Given the description of an element on the screen output the (x, y) to click on. 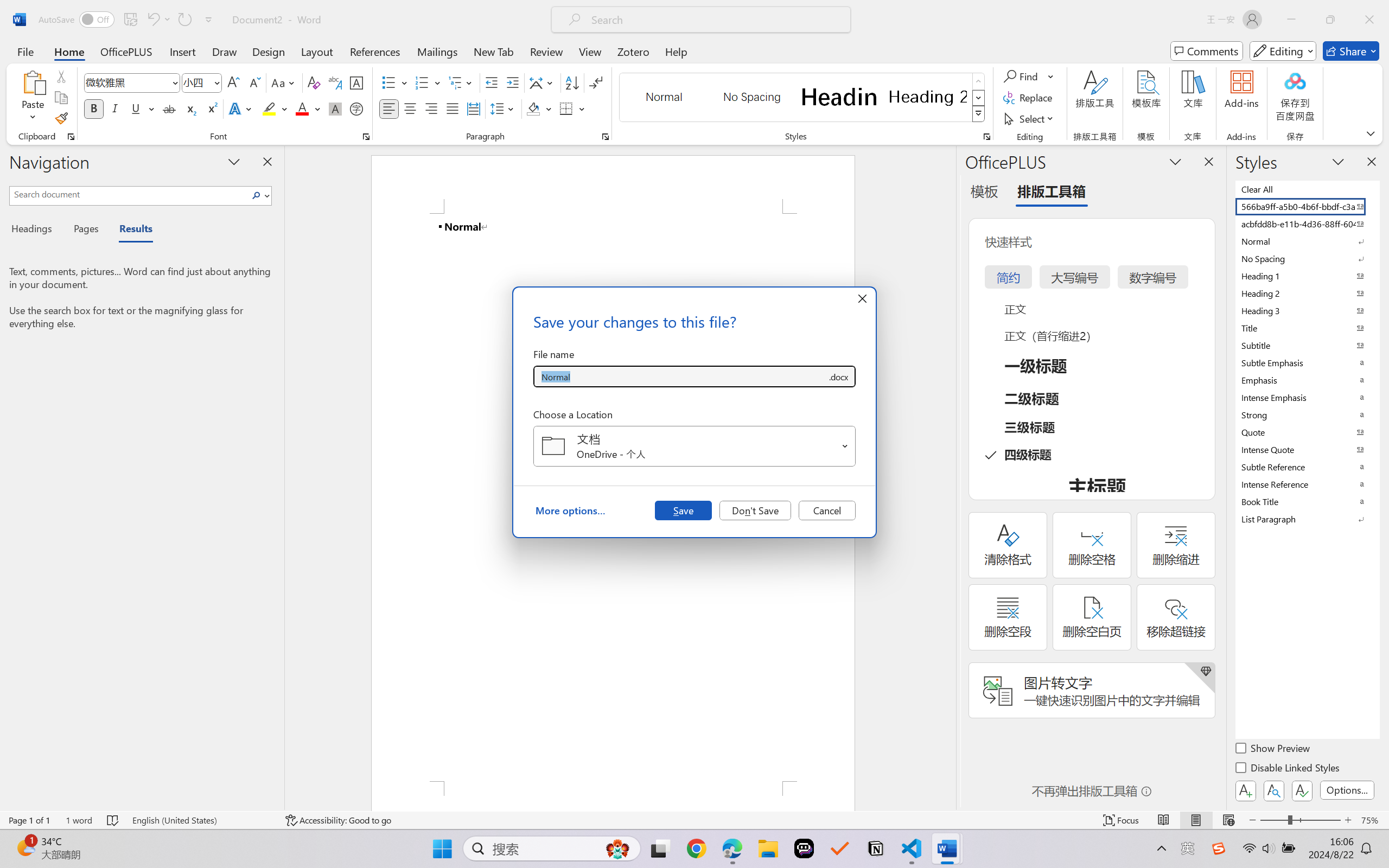
Superscript (210, 108)
Multilevel List (461, 82)
Shading RGB(0, 0, 0) (533, 108)
Minimize (1291, 19)
Comments (1206, 50)
Print Layout (1196, 819)
No Spacing (1306, 258)
Save as type (837, 376)
Text Highlight Color (274, 108)
Heading 1 (839, 96)
